Given the description of an element on the screen output the (x, y) to click on. 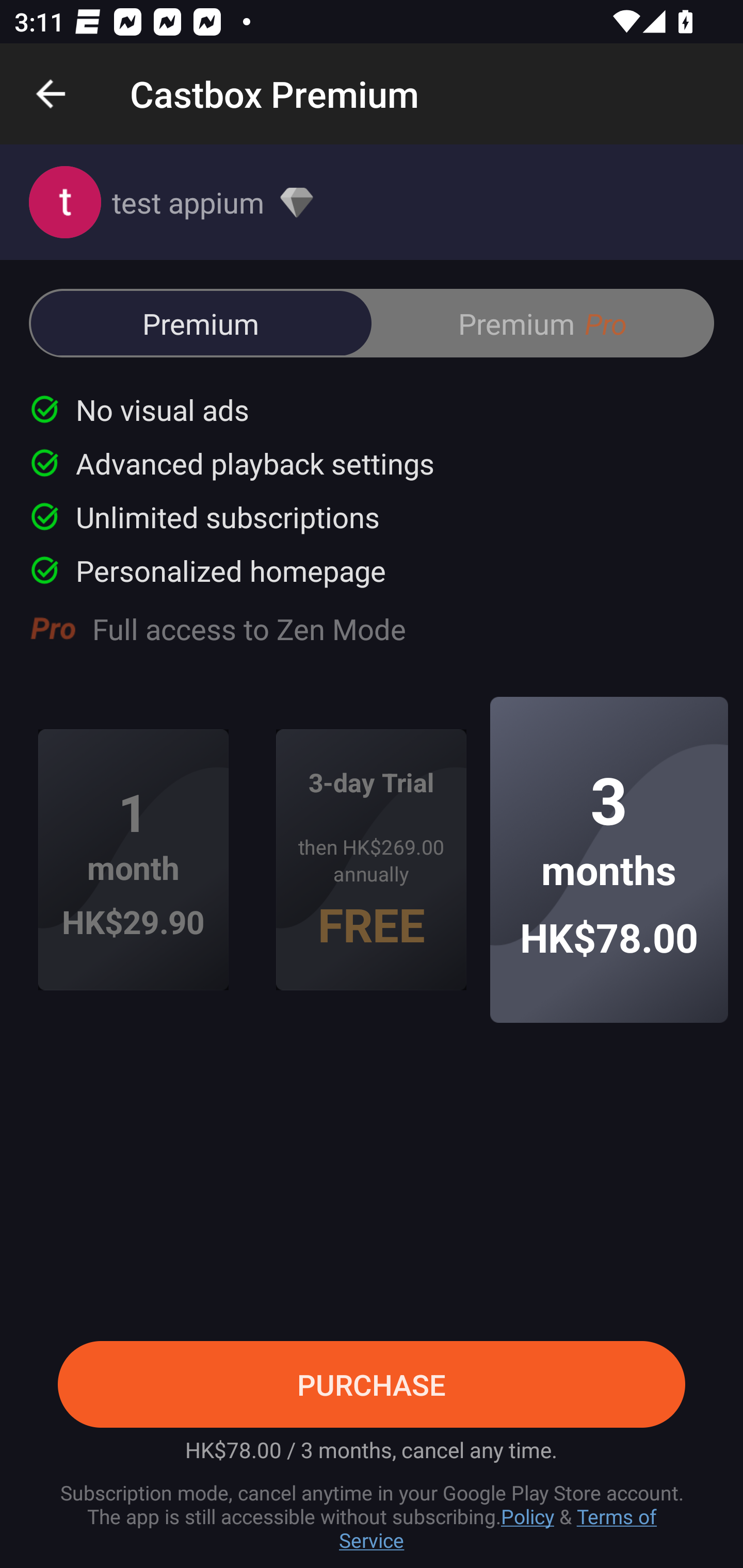
Navigate up (50, 93)
test appium (371, 202)
Premium (201, 322)
Premium Pro (541, 322)
3 months HK$78.00 (609, 859)
1 month HK$29.90 (132, 859)
3-day Trial then HK$269.00 annually FREE (371, 859)
PURCHASE (371, 1384)
